Given the description of an element on the screen output the (x, y) to click on. 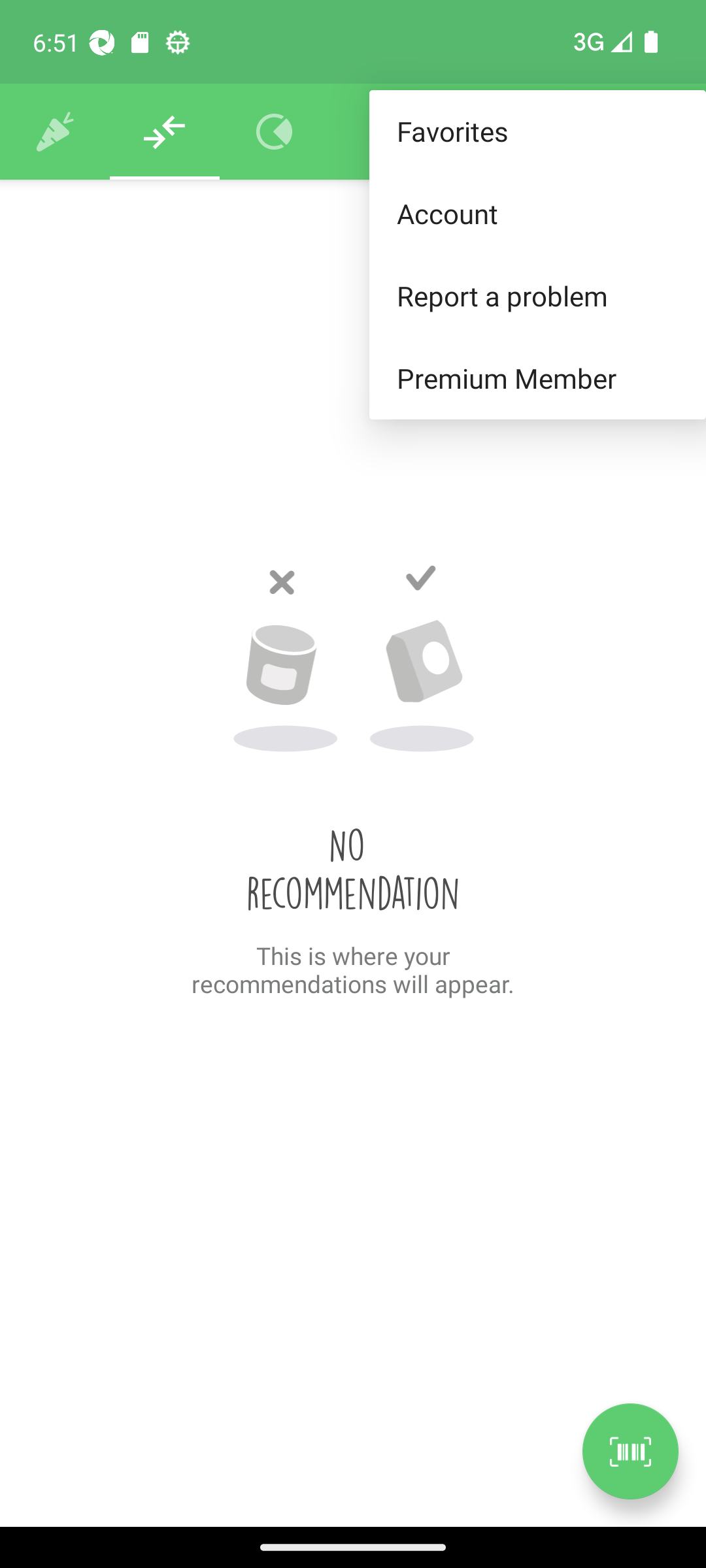
Favorites (537, 131)
Account (537, 213)
Report a problem (537, 295)
Premium Member (537, 378)
